Given the description of an element on the screen output the (x, y) to click on. 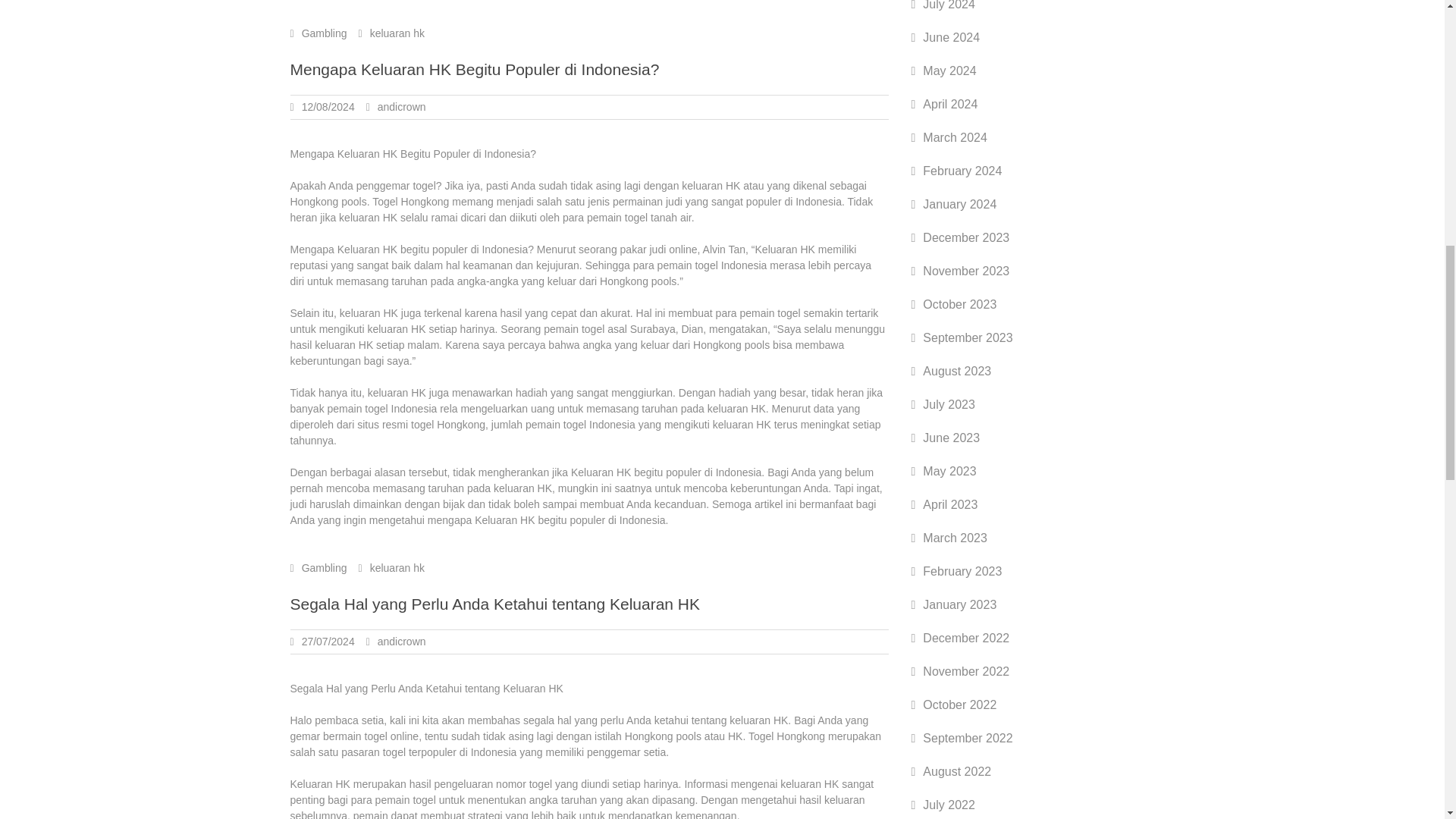
May 2024 (949, 70)
keluaran hk (397, 33)
keluaran hk (397, 567)
andicrown (401, 641)
July 2024 (949, 5)
Mengapa Keluaran HK Begitu Populer di Indonesia? (474, 68)
andicrown (401, 106)
Segala Hal yang Perlu Anda Ketahui tentang Keluaran HK (494, 603)
Gambling (324, 33)
June 2024 (951, 37)
